Given the description of an element on the screen output the (x, y) to click on. 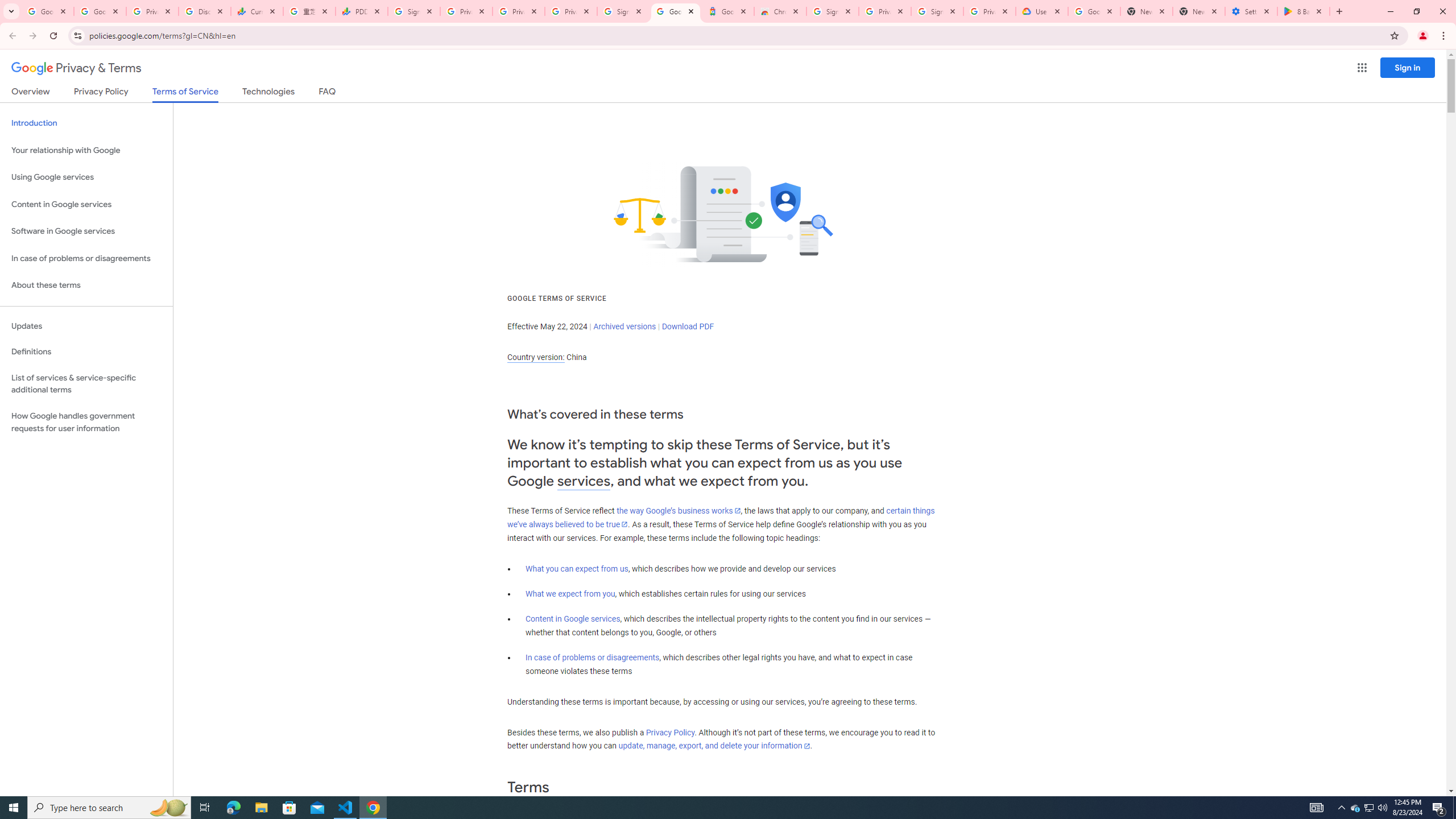
List of services & service-specific additional terms (86, 383)
Google (727, 11)
How Google handles government requests for user information (86, 422)
Download PDF (687, 326)
services (583, 480)
Settings - System (1251, 11)
About these terms (86, 284)
What we expect from you (570, 593)
Definitions (86, 352)
